Given the description of an element on the screen output the (x, y) to click on. 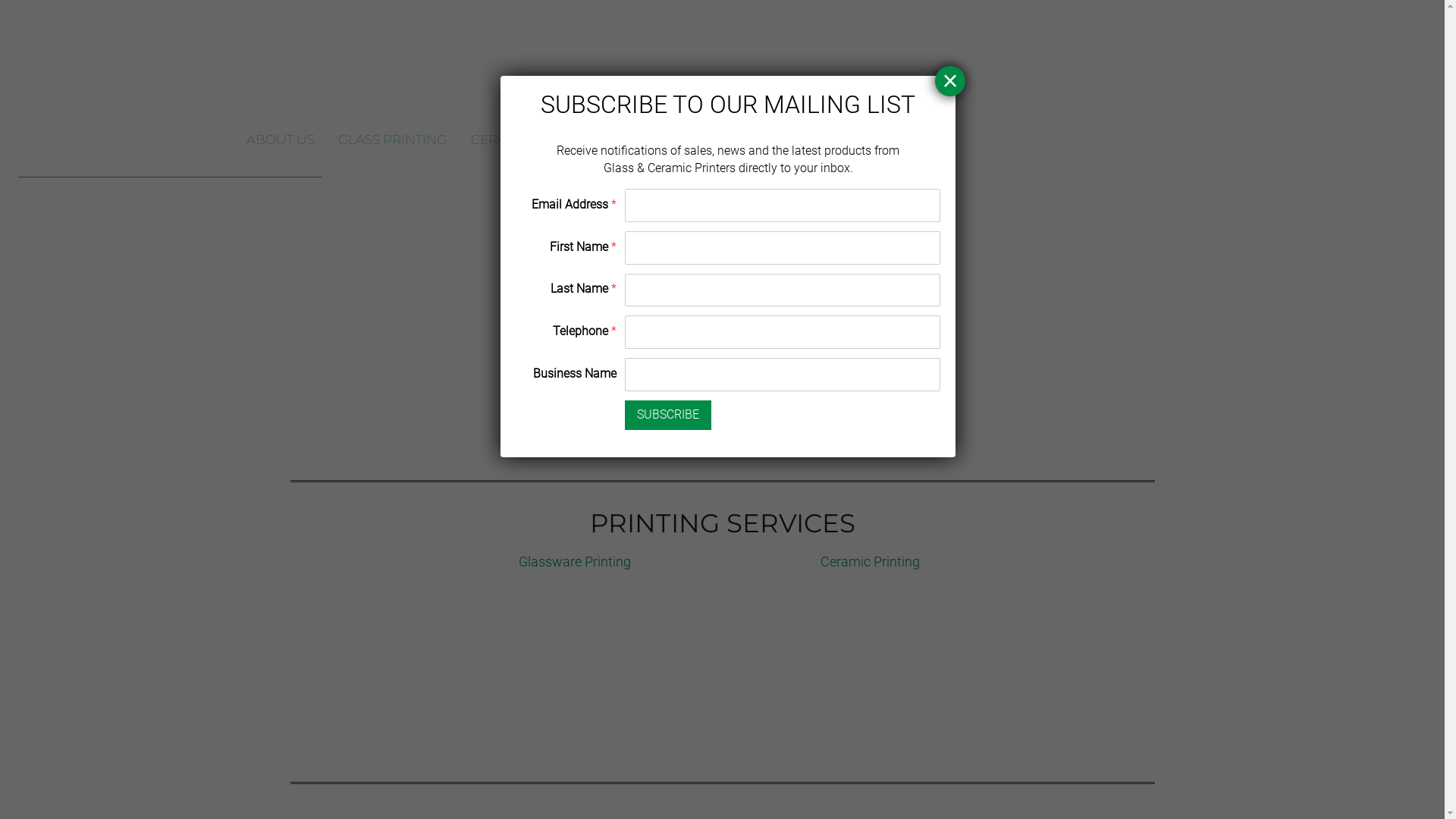
Subscribe Element type: text (667, 414)
CERAMIC PRINTING Element type: text (534, 139)
ABOUT US Element type: text (280, 139)
CONTACT US Element type: text (838, 139)
Glassware Printing Element type: text (574, 561)
Ceramic Printing Element type: text (869, 561)
DECALS Element type: text (647, 139)
GLASS PRINTING Element type: text (392, 139)
PORTFOLIO Element type: text (735, 139)
